Given the description of an element on the screen output the (x, y) to click on. 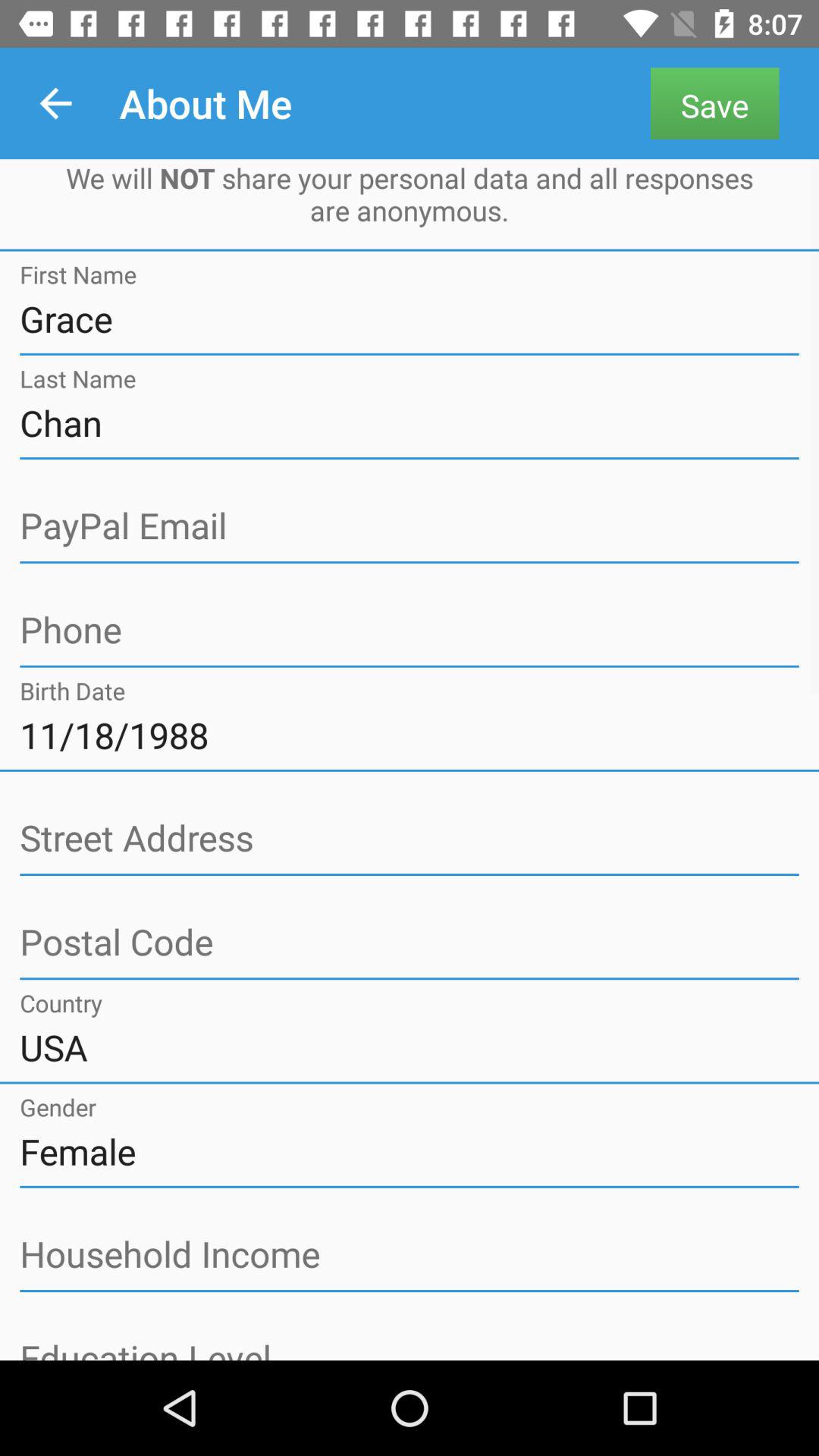
street address input field (409, 839)
